Given the description of an element on the screen output the (x, y) to click on. 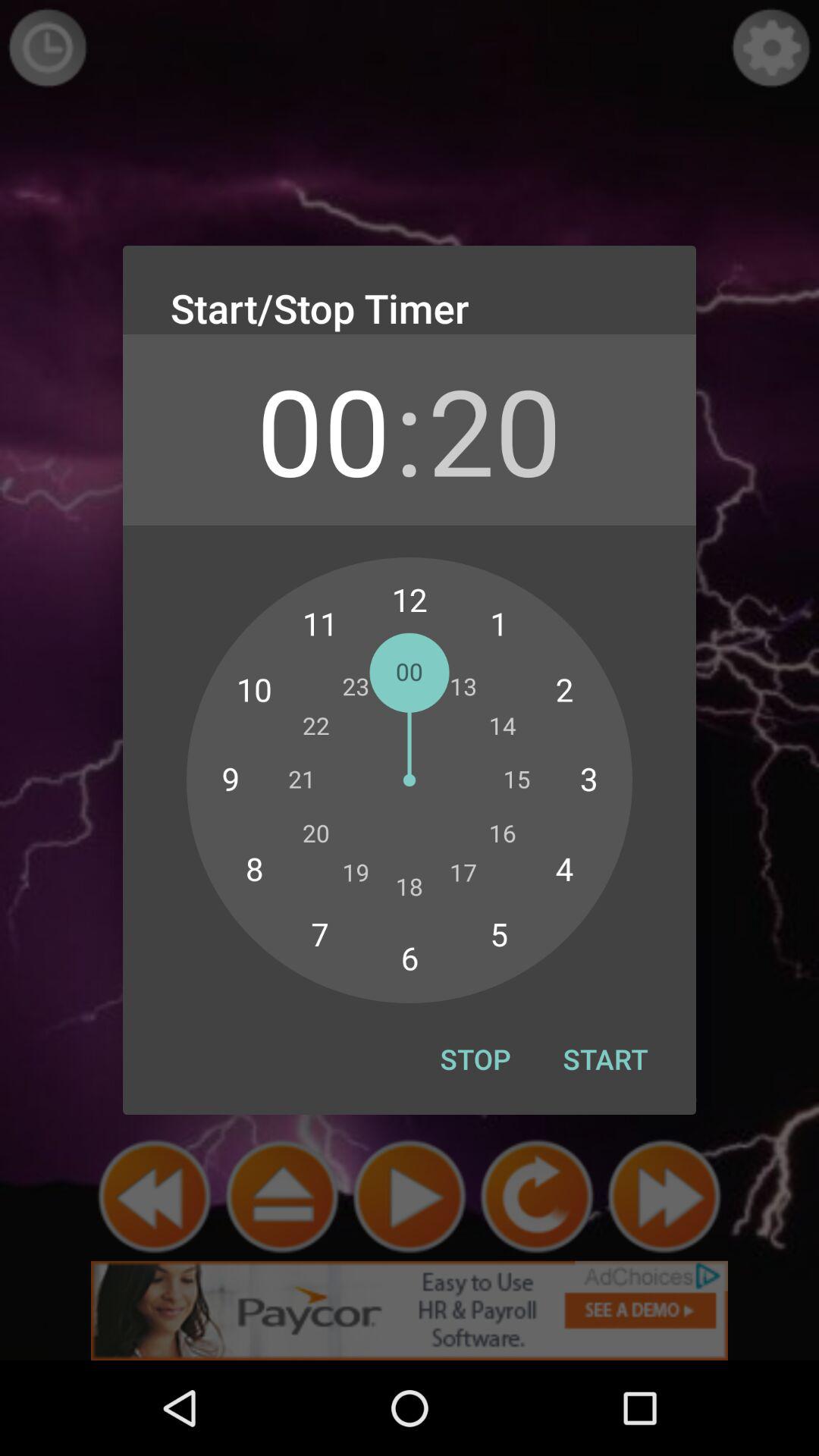
launch the app next to the : app (323, 429)
